Given the description of an element on the screen output the (x, y) to click on. 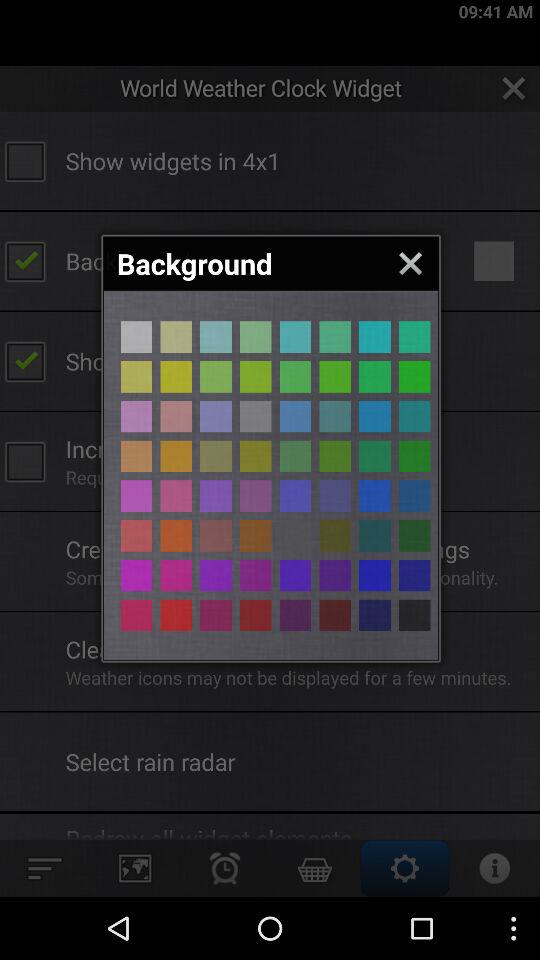
box (136, 336)
